Given the description of an element on the screen output the (x, y) to click on. 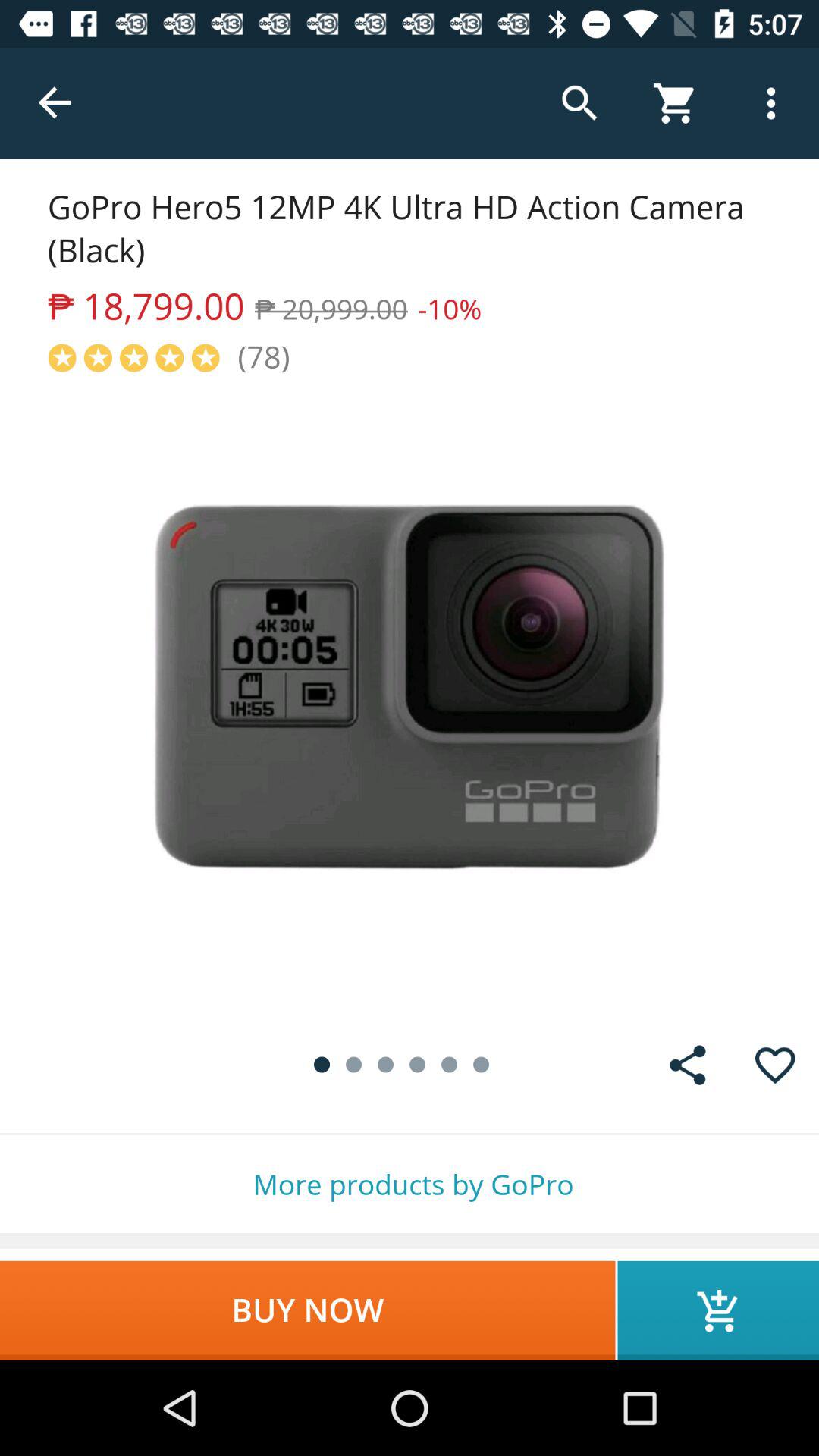
flip to more products by item (409, 1184)
